Given the description of an element on the screen output the (x, y) to click on. 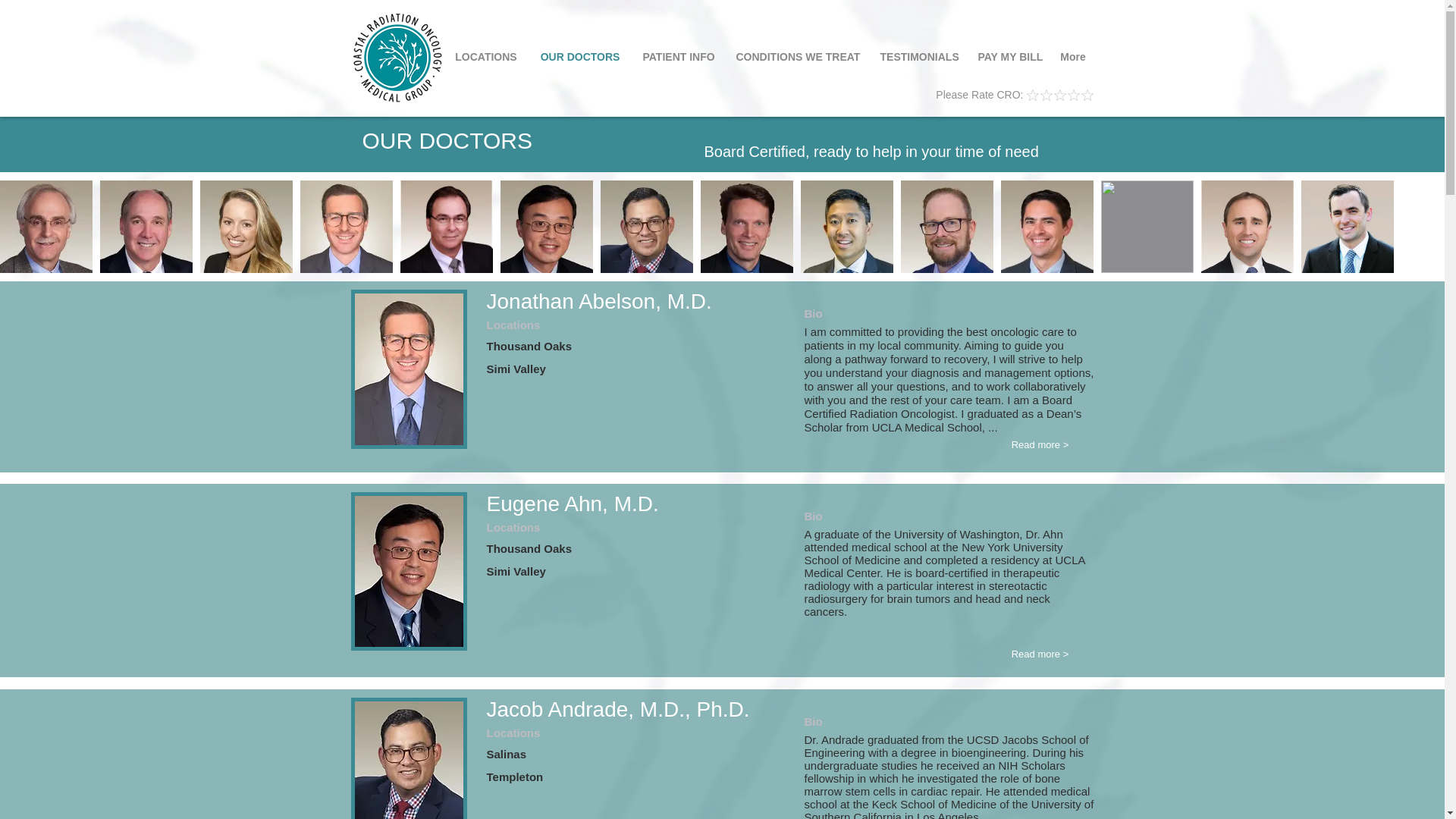
1 Star Rating (1033, 95)
OUR DOCTORS (580, 56)
4 Star Rating (1052, 94)
2 Star Rating (1039, 94)
PATIENT INFO (676, 56)
3 Star Rating (1046, 94)
LOCATIONS (485, 56)
CONDITIONS WE TREAT (797, 56)
5 Star Rating (1059, 94)
